Given the description of an element on the screen output the (x, y) to click on. 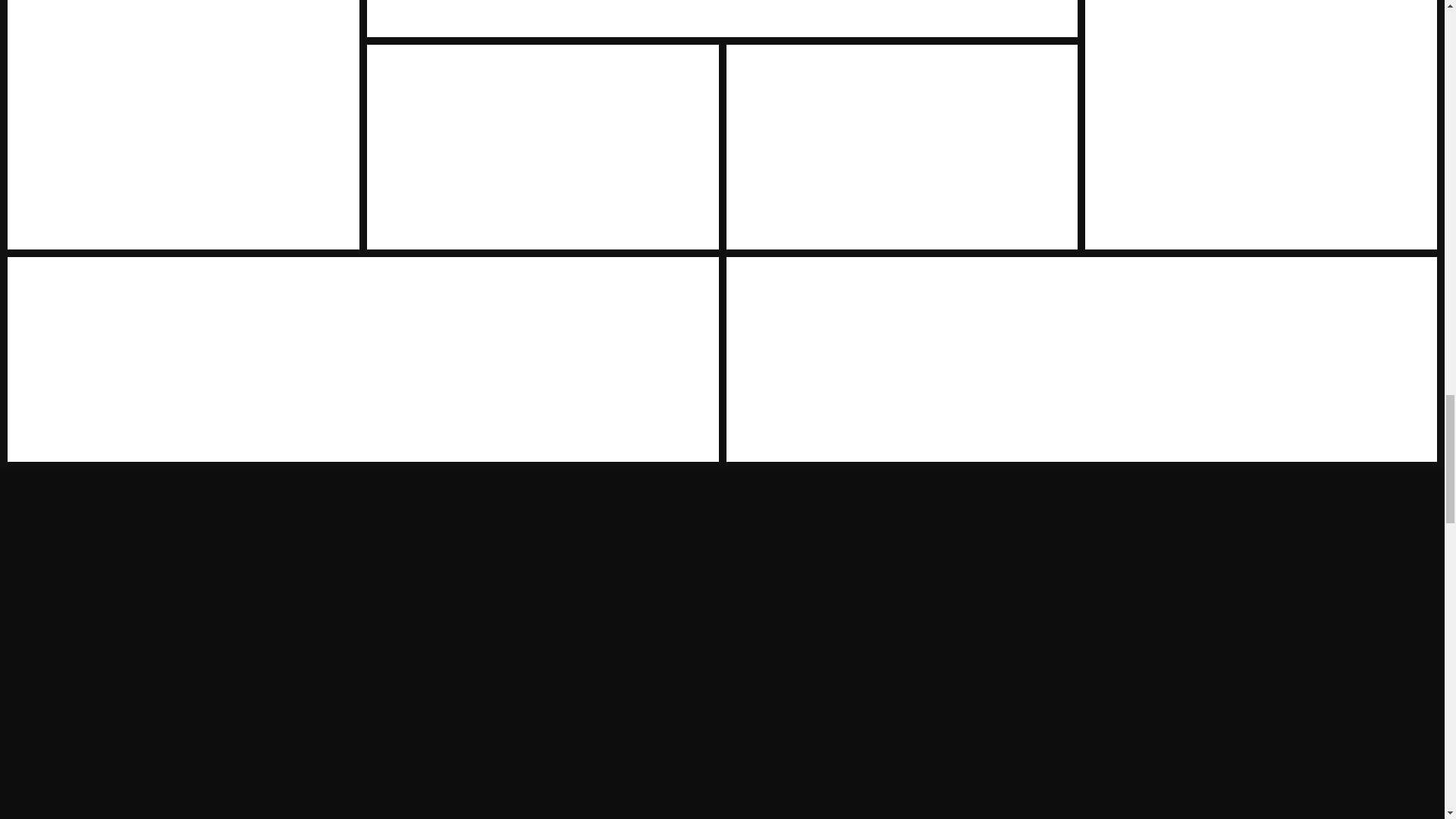
Home 10 (1260, 124)
Home 7 (183, 124)
Home 12 (722, 18)
Home 14 (542, 147)
